Given the description of an element on the screen output the (x, y) to click on. 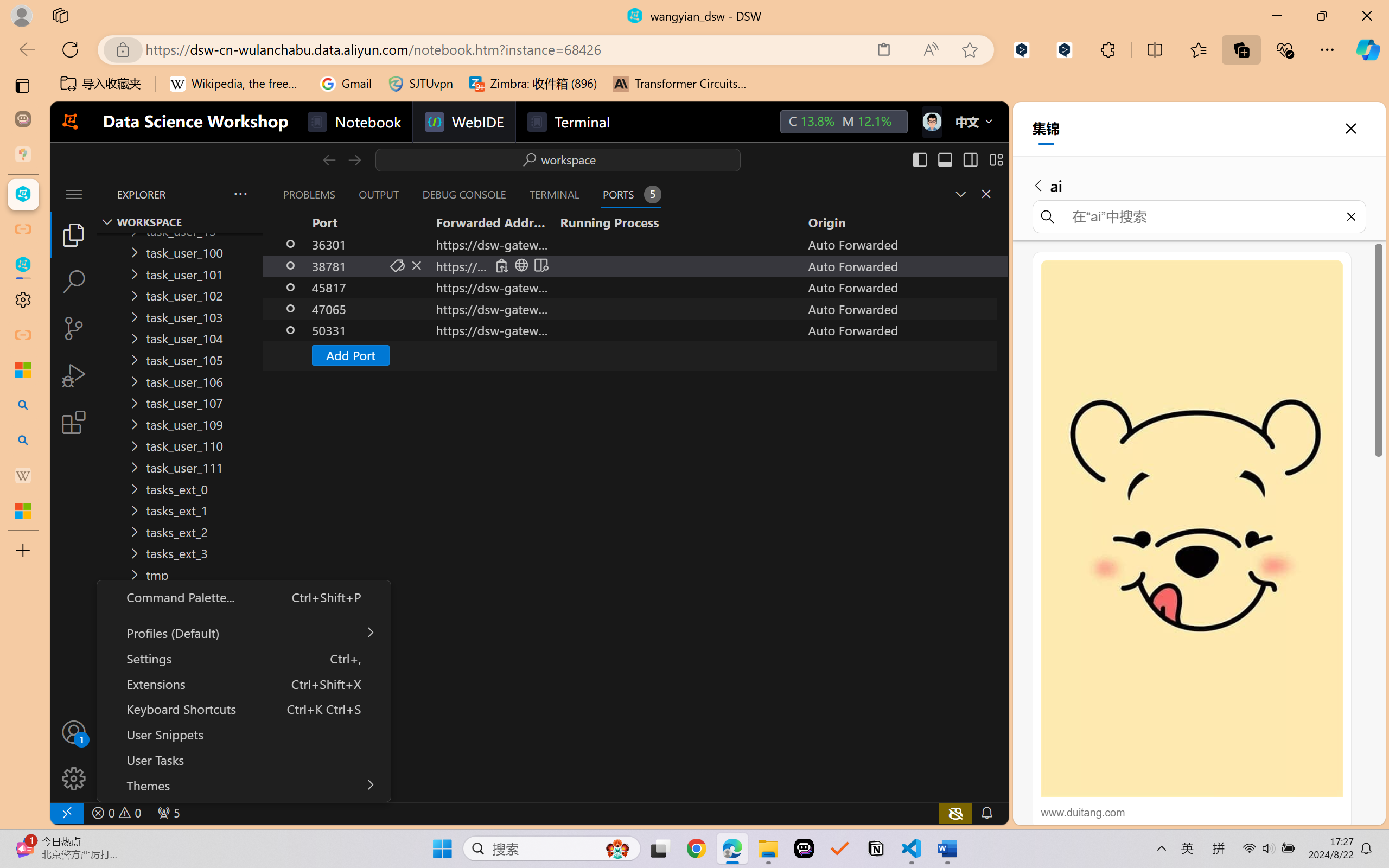
Run and Debug (Ctrl+Shift+D) (73, 375)
Explorer actions (211, 194)
Notebook (353, 121)
Go Forward (Alt+RightArrow) (354, 159)
Application Menu (73, 194)
Class: menubar compact overflow-menu-only (73, 194)
Restore Panel Size (959, 193)
Ports - 5 forwarded ports Ports - 5 forwarded ports (630, 194)
Outline Section (179, 769)
